Given the description of an element on the screen output the (x, y) to click on. 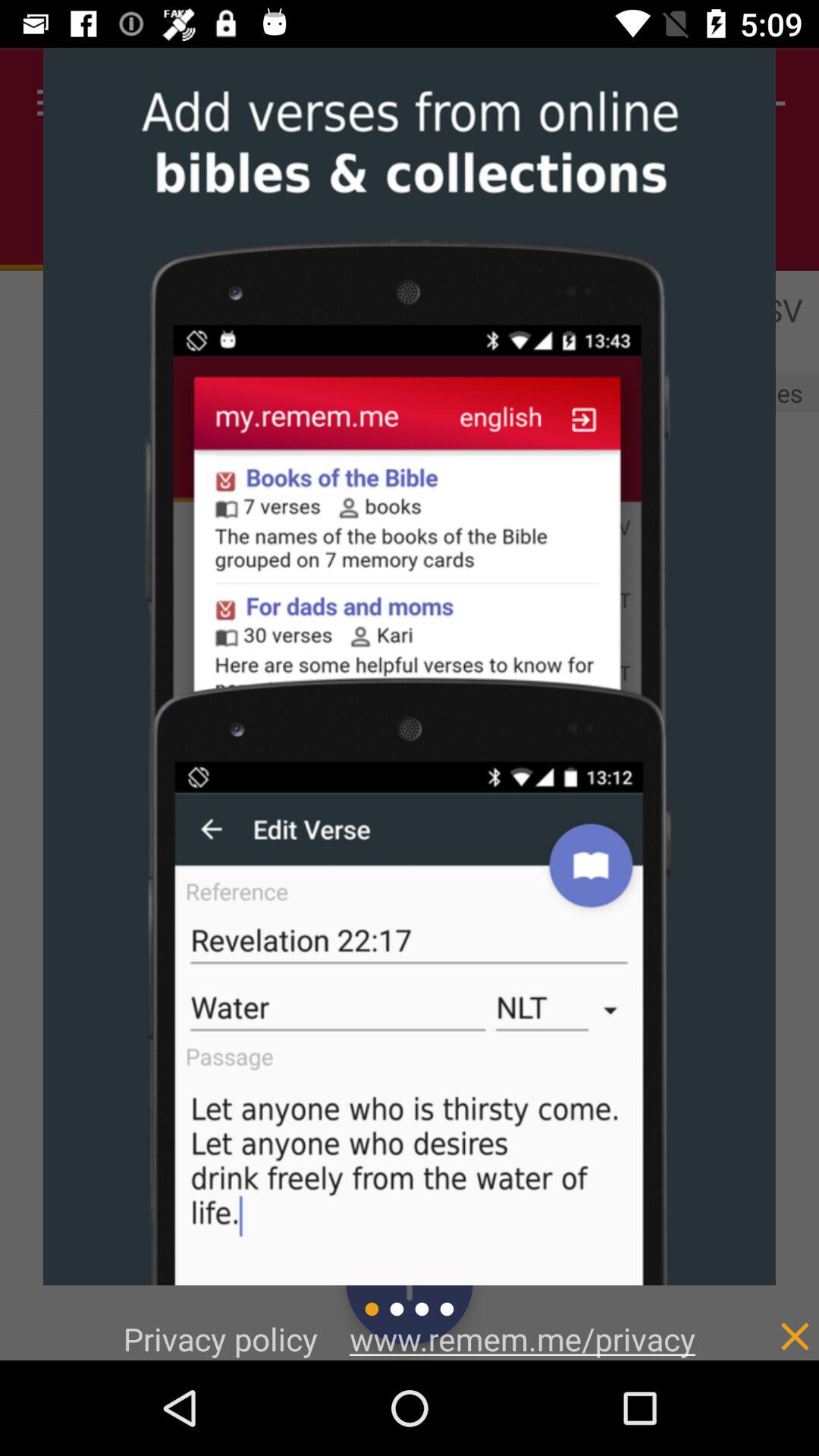
turn on item next to www remem me icon (763, 1320)
